Given the description of an element on the screen output the (x, y) to click on. 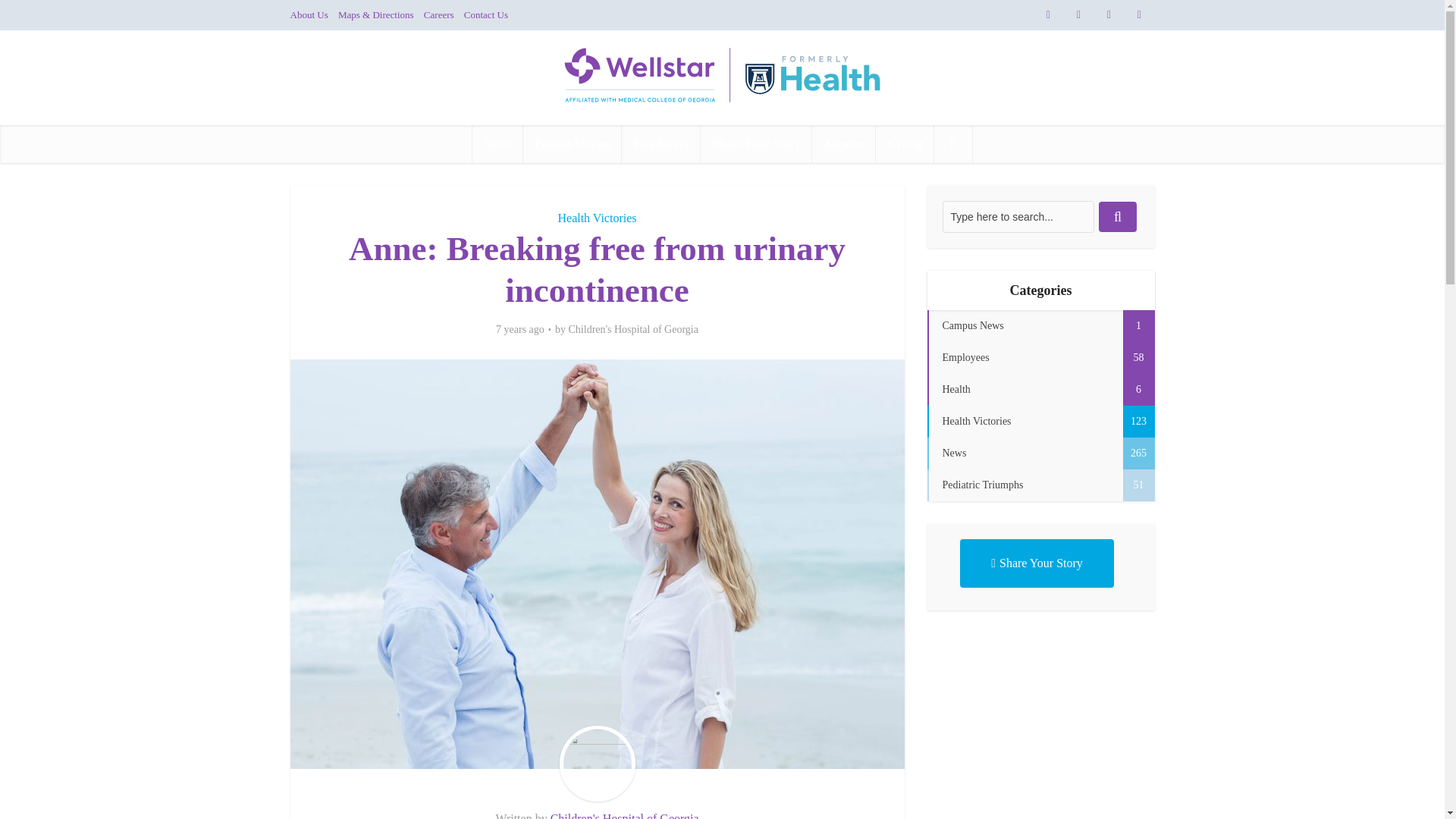
Type here to search... (1017, 216)
Share Your Story (756, 143)
Giving (904, 143)
About Us (308, 14)
Jagwire (844, 143)
Patient Stories (571, 143)
News (496, 143)
Children's Hospital of Georgia (624, 815)
Type here to search... (1017, 216)
Employees (660, 143)
